Given the description of an element on the screen output the (x, y) to click on. 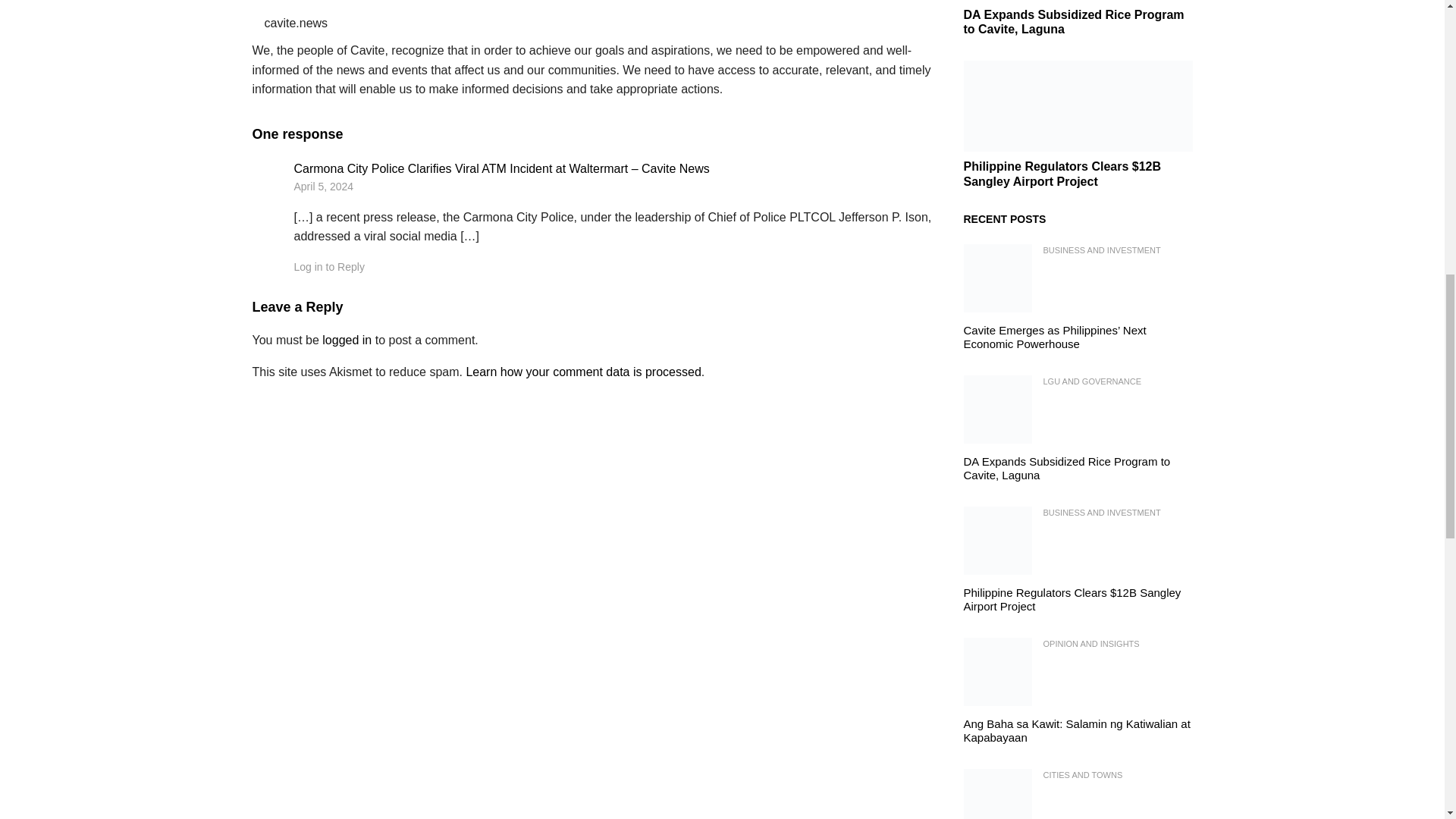
April 5, 2024 (323, 186)
Log in to Reply (329, 266)
logged in (346, 339)
Learn how your comment data is processed (582, 371)
